Given the description of an element on the screen output the (x, y) to click on. 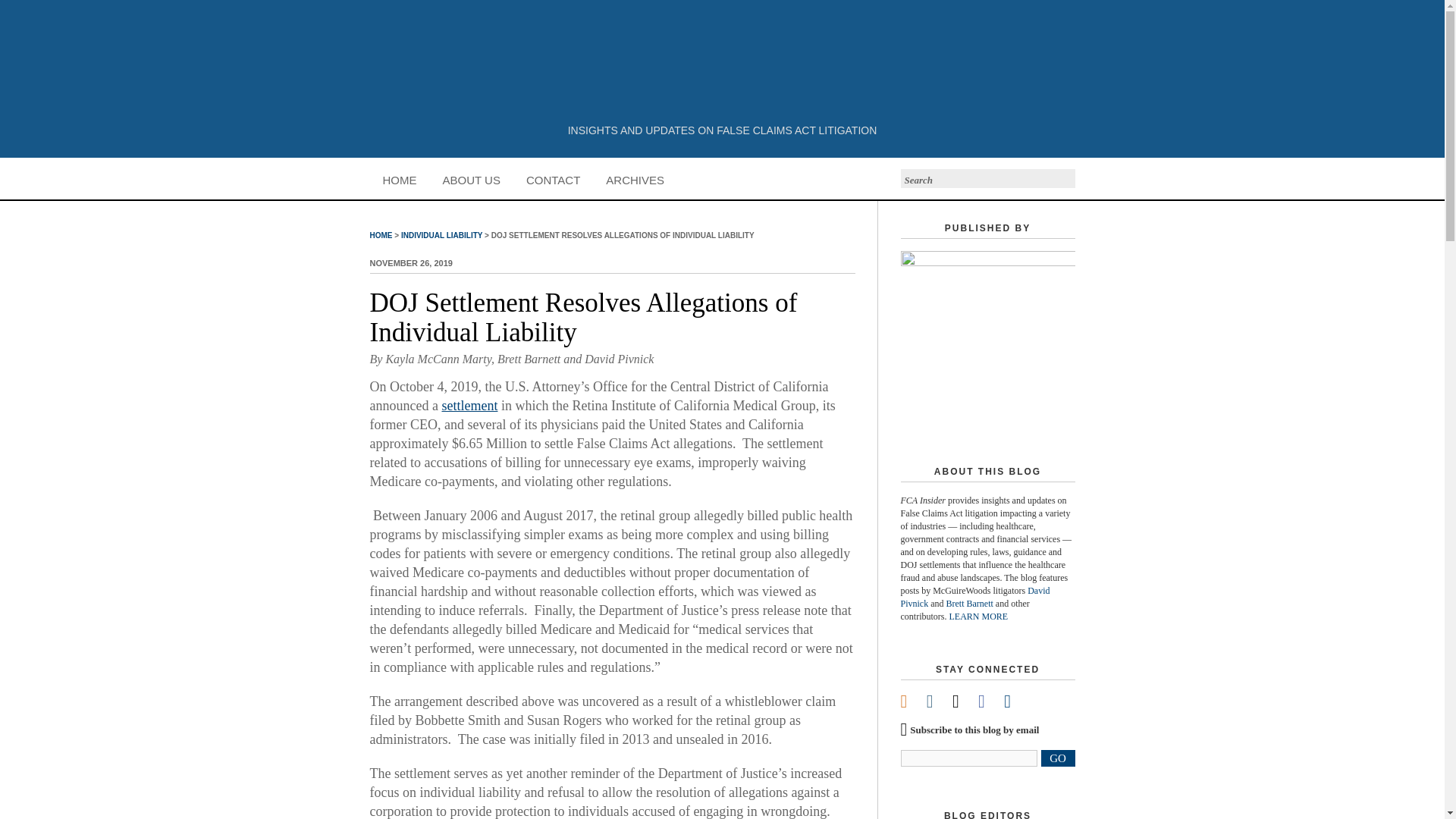
CONTACT (552, 178)
The FCA Insider (723, 61)
GO (1057, 758)
ARCHIVES (634, 178)
Brett Barnett (969, 603)
Go (1063, 178)
DOJ Settlement Resolves Allegations of Individual Liability (583, 317)
David Pivnick (619, 358)
settlement (469, 405)
Go (1063, 178)
INDIVIDUAL LIABILITY (441, 234)
Search (963, 176)
LEARN MORE (979, 615)
Brett Barnett (528, 358)
HOME (381, 234)
